Given the description of an element on the screen output the (x, y) to click on. 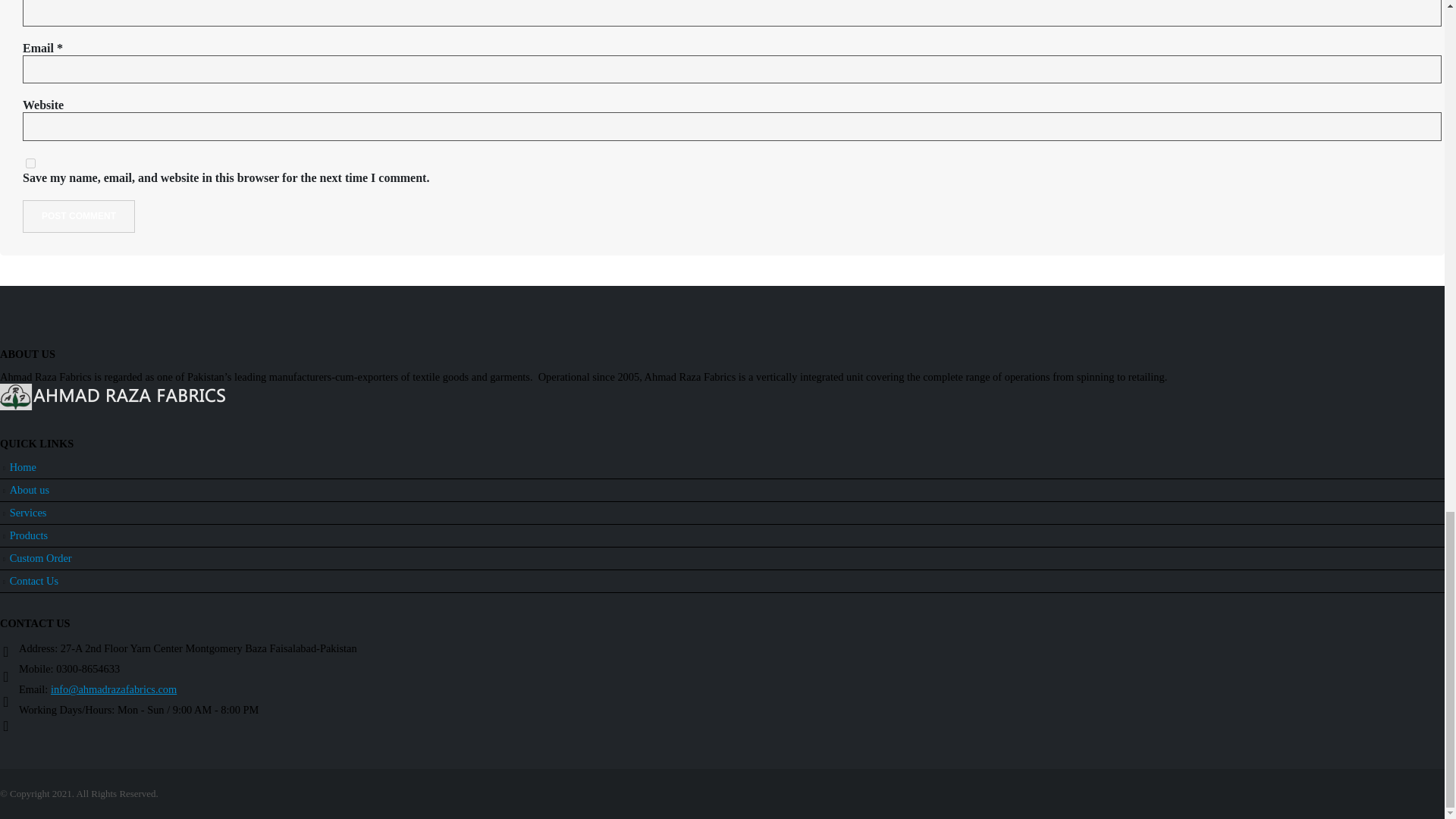
Home (23, 467)
Post Comment (79, 215)
Custom Order (40, 558)
Services (28, 512)
yes (30, 163)
About us (29, 490)
Post Comment (79, 215)
Contact Us (34, 580)
Products (29, 535)
